Given the description of an element on the screen output the (x, y) to click on. 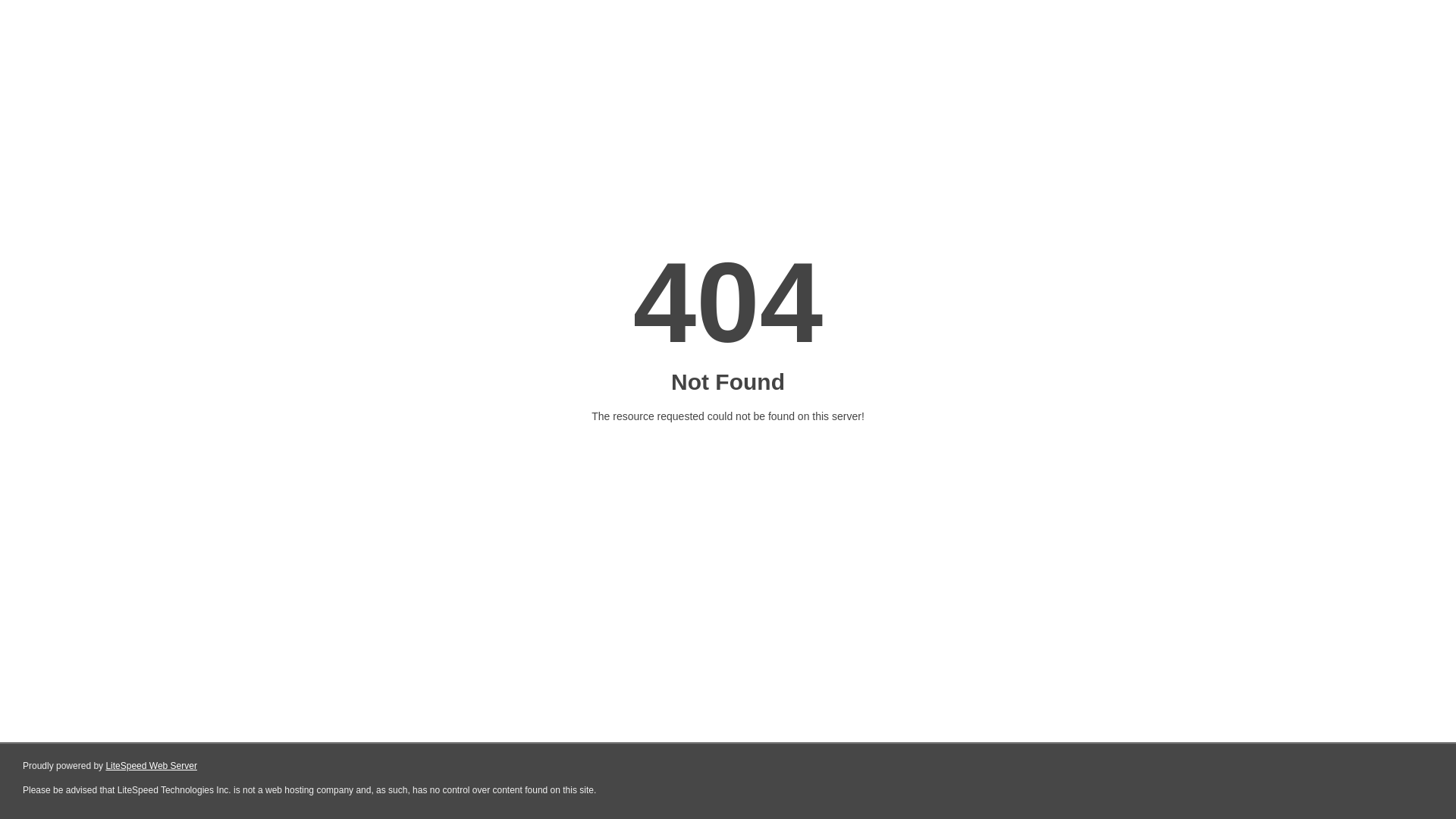
LiteSpeed Web Server Element type: text (151, 765)
